Given the description of an element on the screen output the (x, y) to click on. 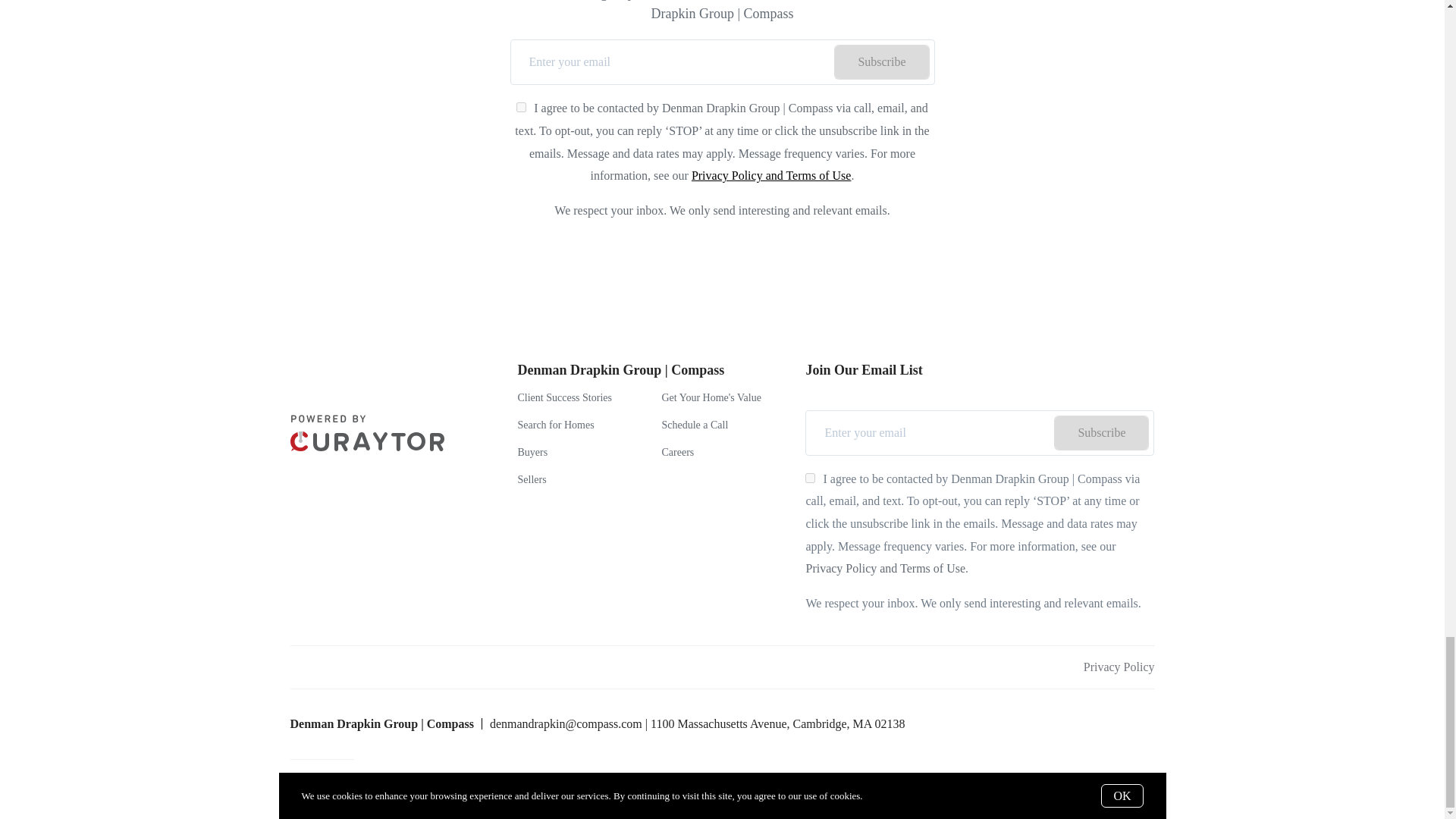
on (810, 478)
on (520, 107)
curaytor-horizontal (366, 432)
